Given the description of an element on the screen output the (x, y) to click on. 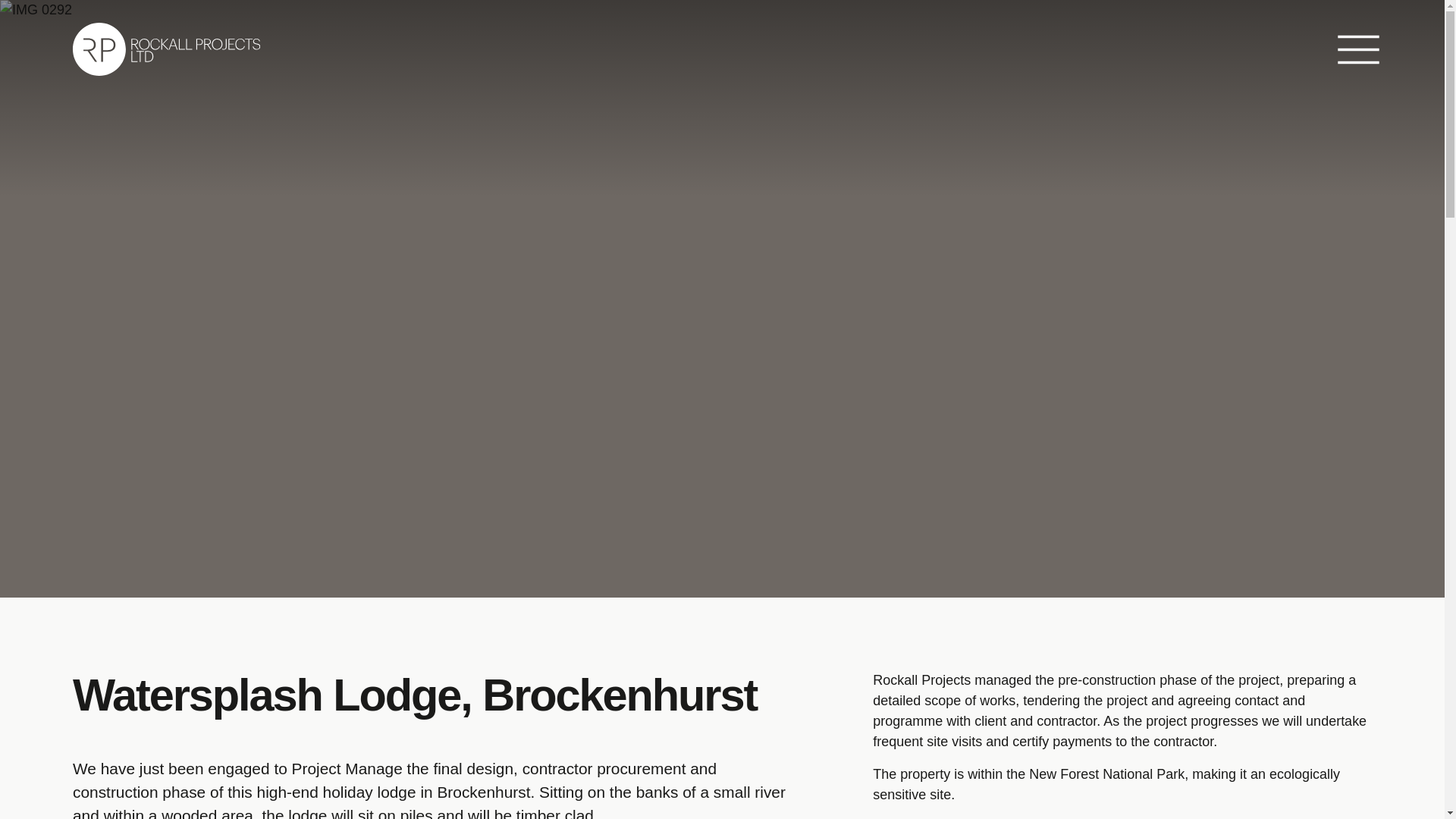
Go to home page (166, 49)
